Given the description of an element on the screen output the (x, y) to click on. 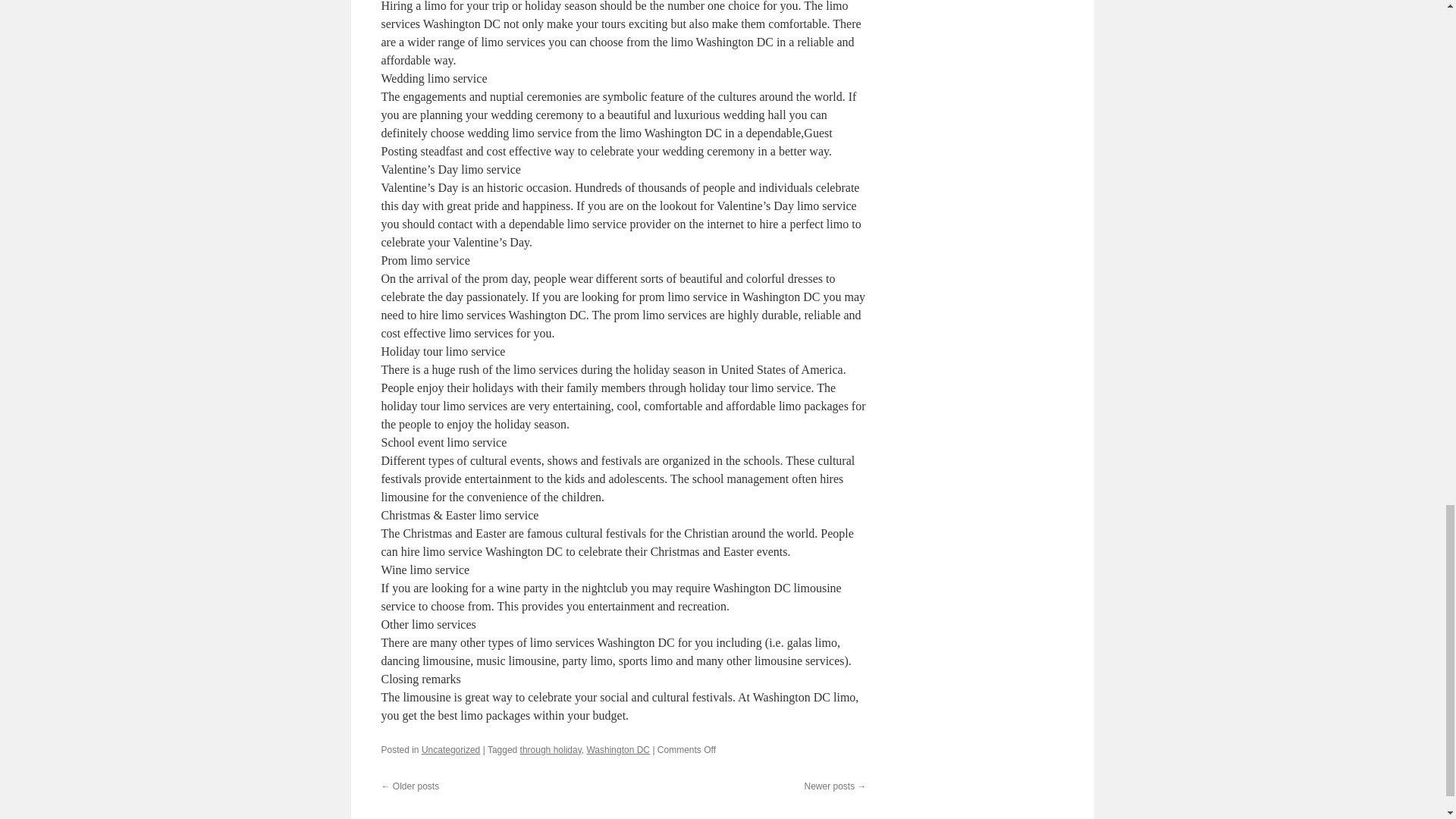
through holiday (549, 749)
Washington DC (617, 749)
Uncategorized (451, 749)
View all posts in Uncategorized (451, 749)
